Given the description of an element on the screen output the (x, y) to click on. 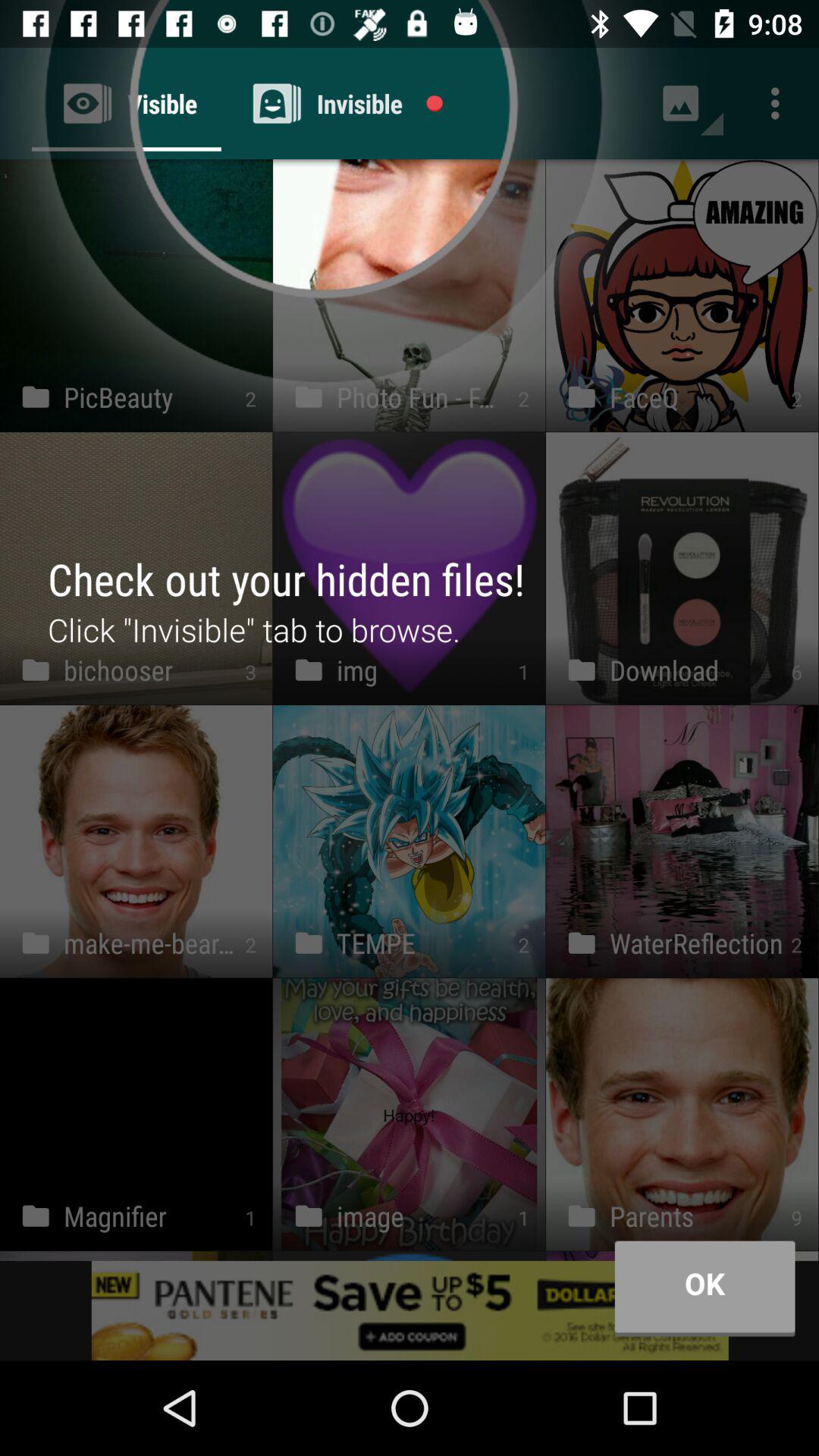
bit news (409, 1310)
